Given the description of an element on the screen output the (x, y) to click on. 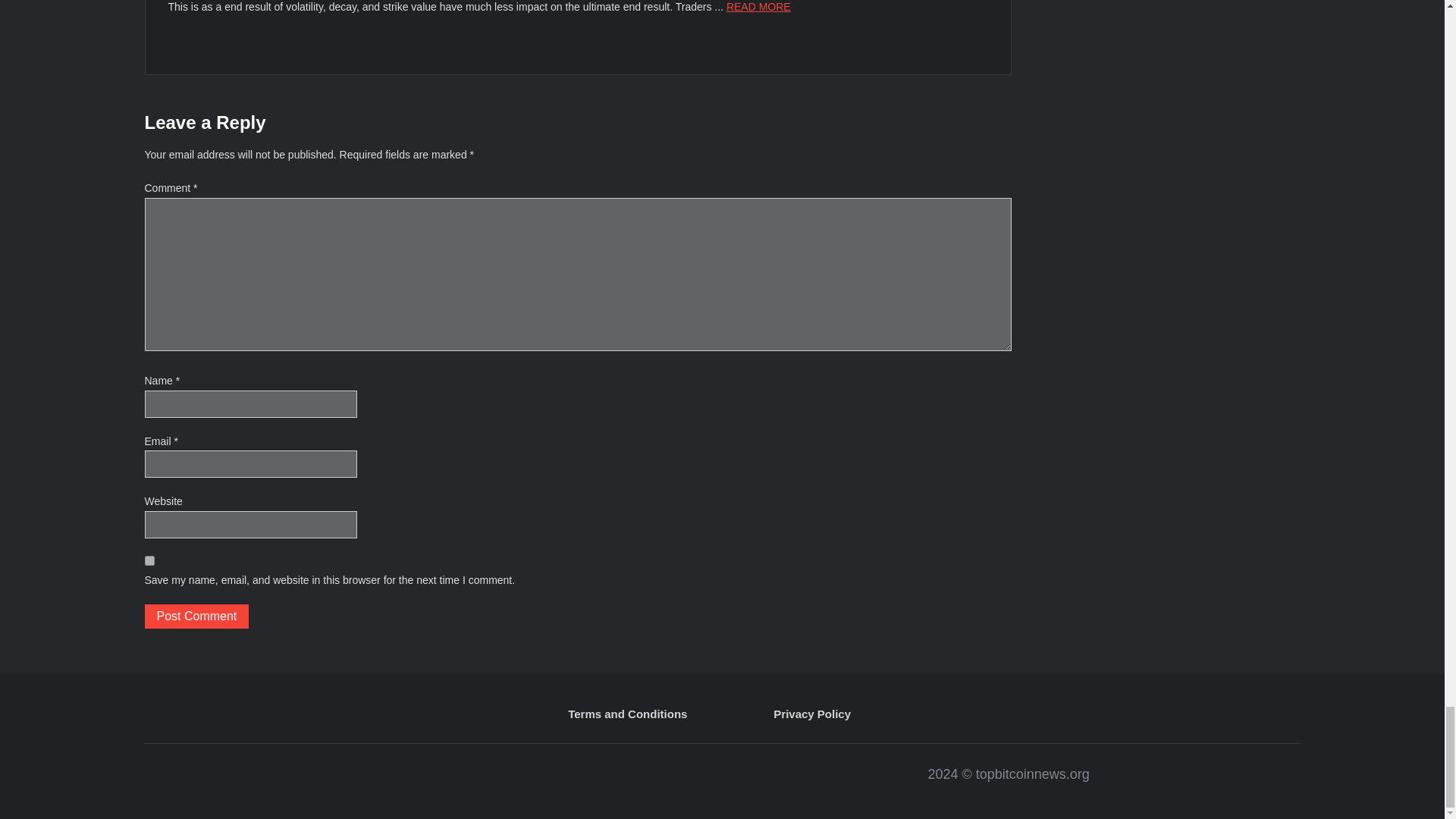
yes (149, 560)
DMCA.com Protection Status (430, 781)
Post Comment (196, 616)
